Given the description of an element on the screen output the (x, y) to click on. 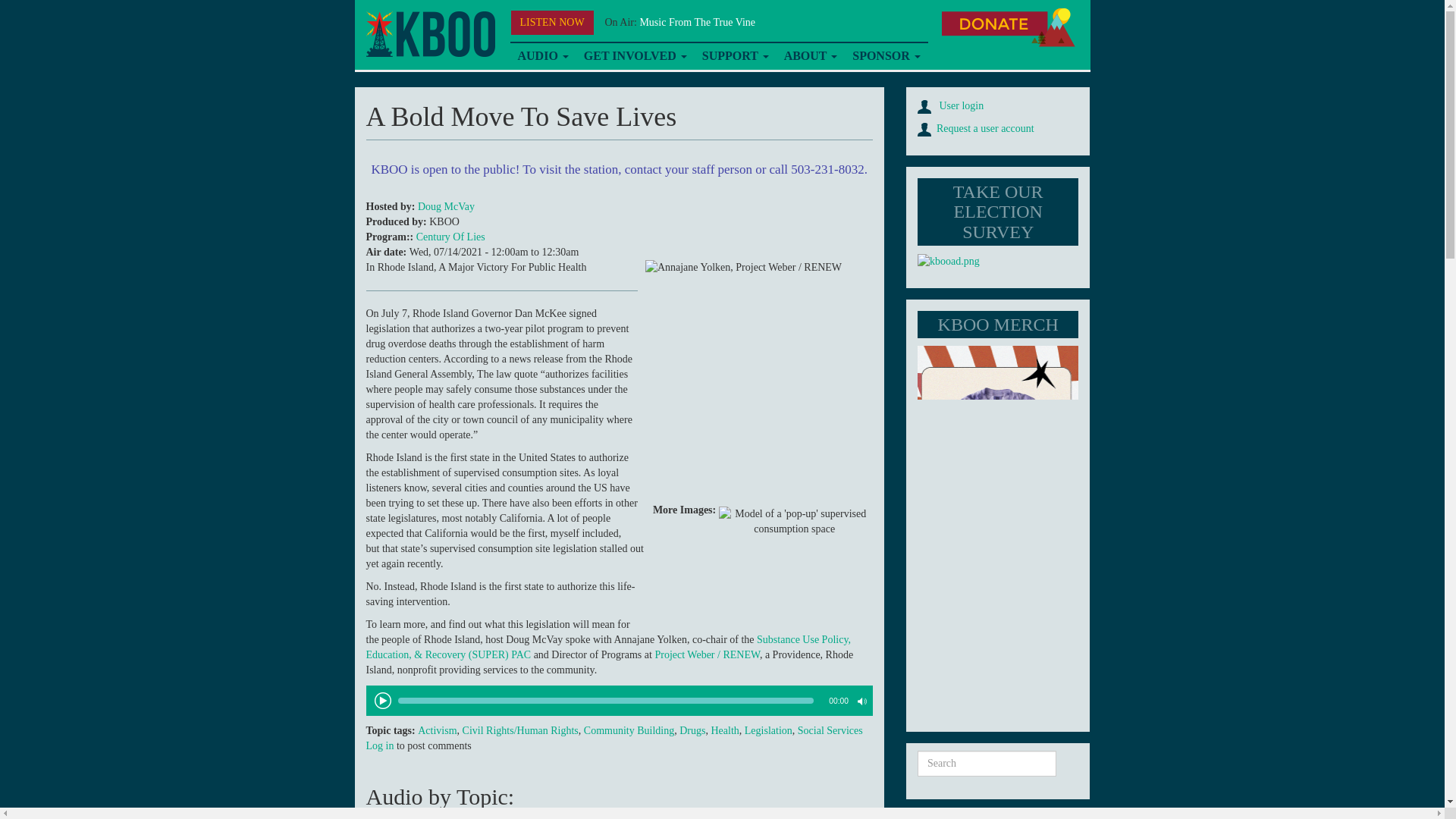
SUPPORT (735, 55)
GET INVOLVED (635, 55)
Music From The True Vine (697, 21)
ABOUT (810, 55)
AUDIO (542, 55)
Home (430, 34)
LISTEN NOW (551, 22)
